Given the description of an element on the screen output the (x, y) to click on. 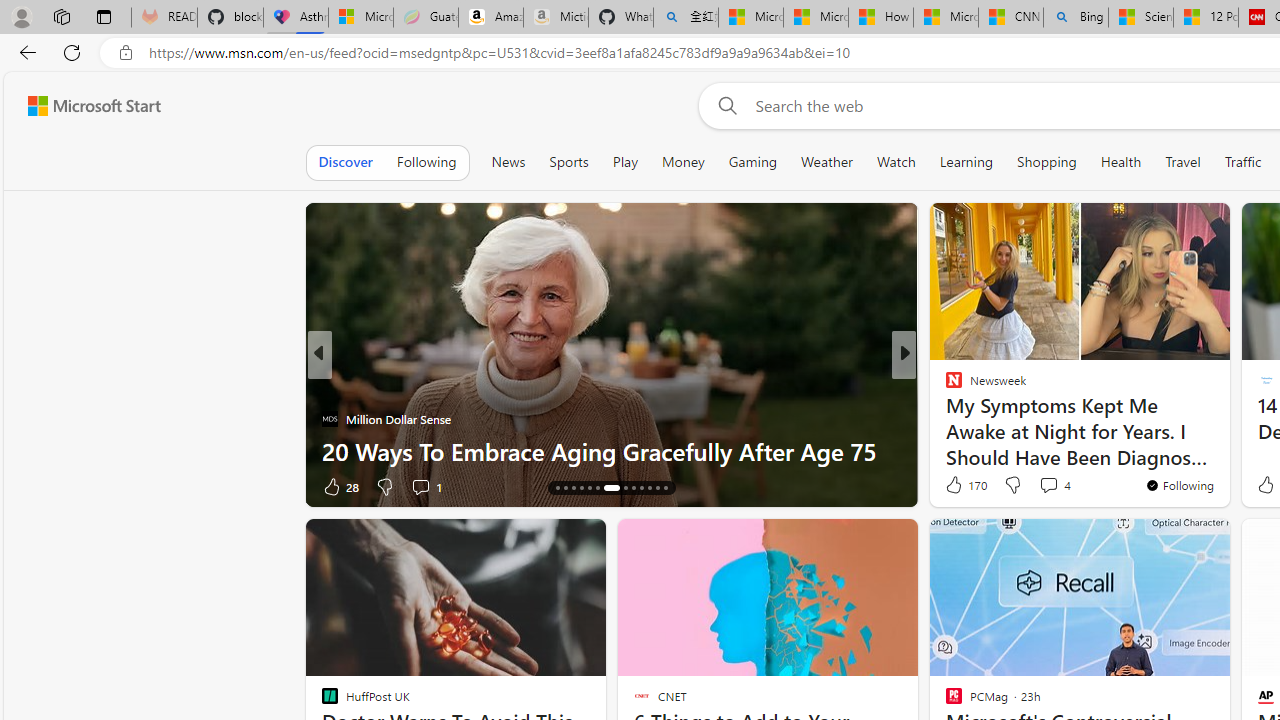
636 Like (959, 486)
AutomationID: tab-21 (619, 487)
CNN - MSN (1011, 17)
AutomationID: tab-16 (573, 487)
Stacker (944, 386)
AutomationID: tab-18 (588, 487)
View comments 11 Comment (426, 485)
AutomationID: tab-19 (596, 487)
